Given the description of an element on the screen output the (x, y) to click on. 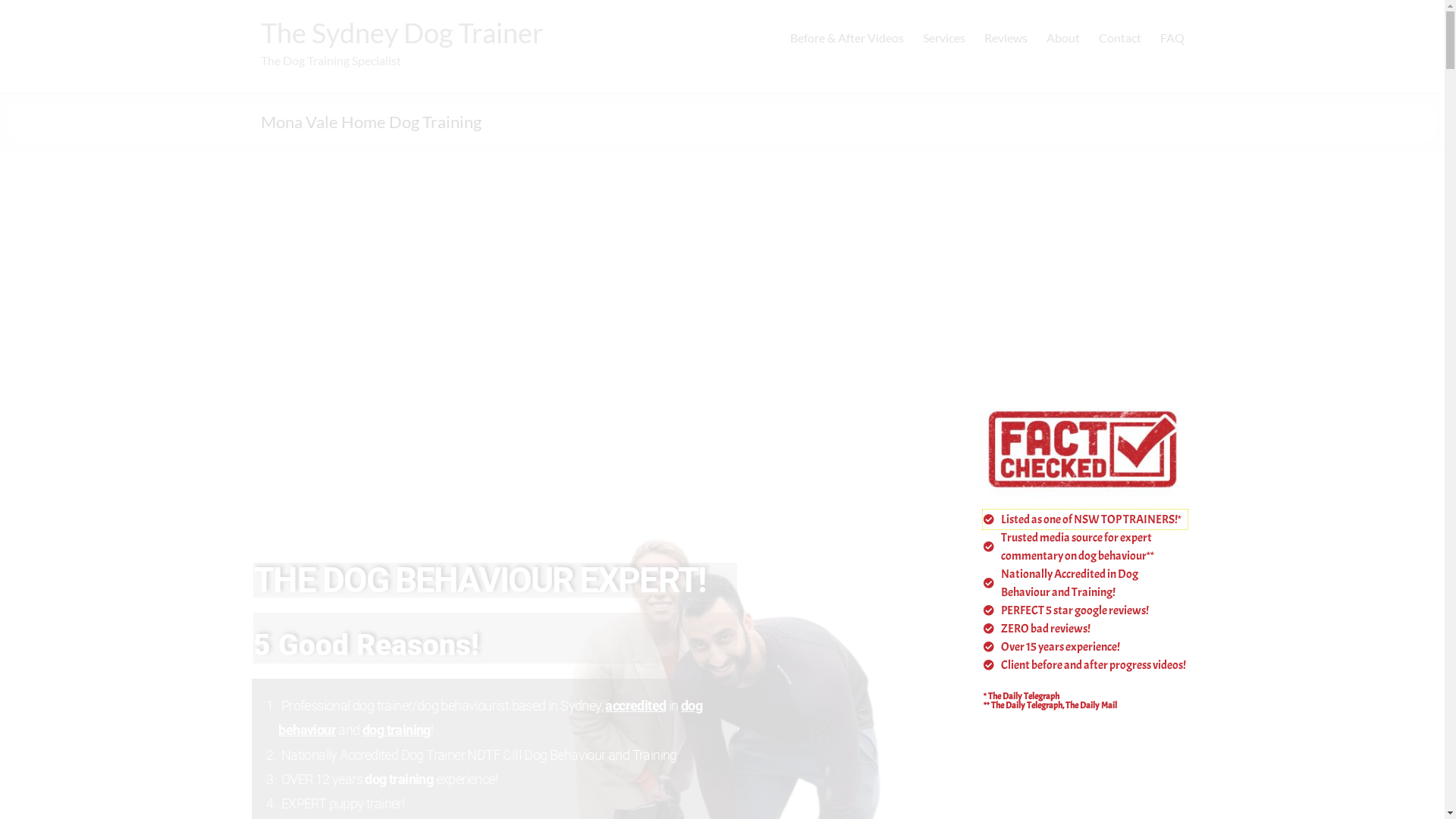
Listed as one of NSW TOP TRAINERS!* Element type: text (1084, 519)
About Element type: text (1062, 37)
Reviews Element type: text (1005, 37)
FAQ Element type: text (1172, 37)
Services Element type: text (943, 37)
Before & After Videos Element type: text (846, 37)
Contact Element type: text (1119, 37)
The Sydney Dog Trainer Element type: text (401, 32)
